Given the description of an element on the screen output the (x, y) to click on. 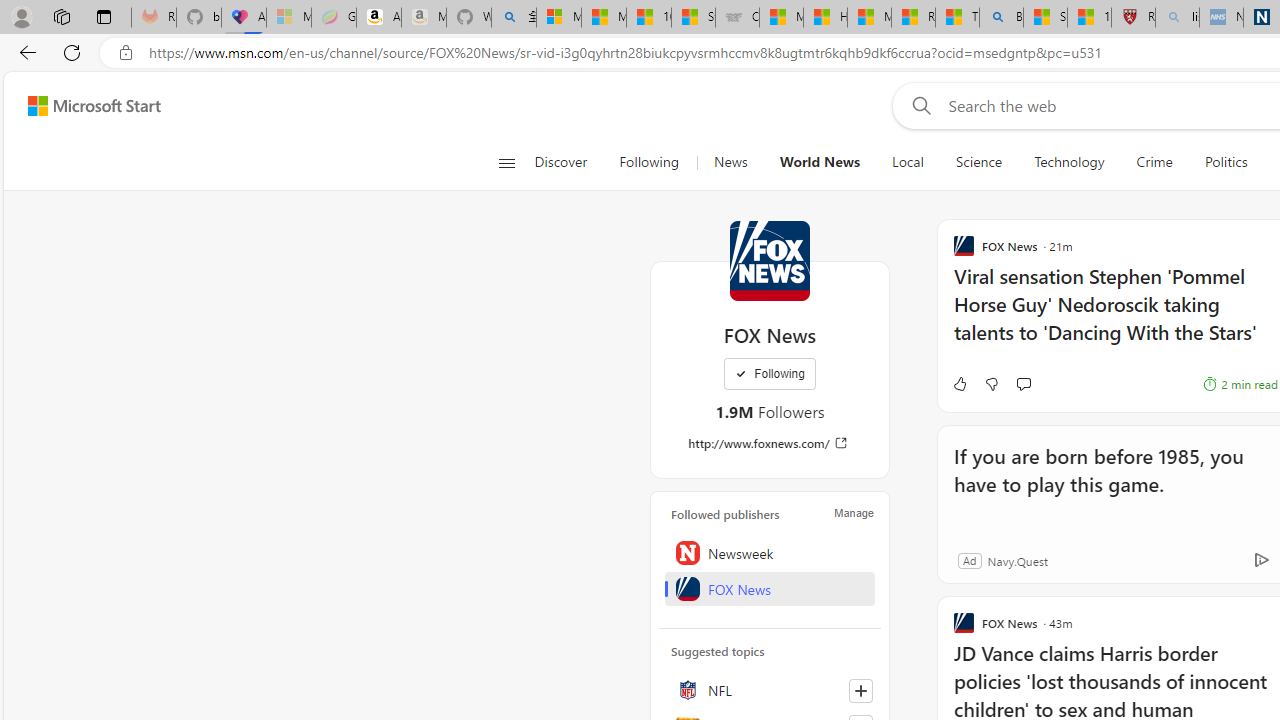
Newsweek (770, 552)
Manage (854, 512)
